Given the description of an element on the screen output the (x, y) to click on. 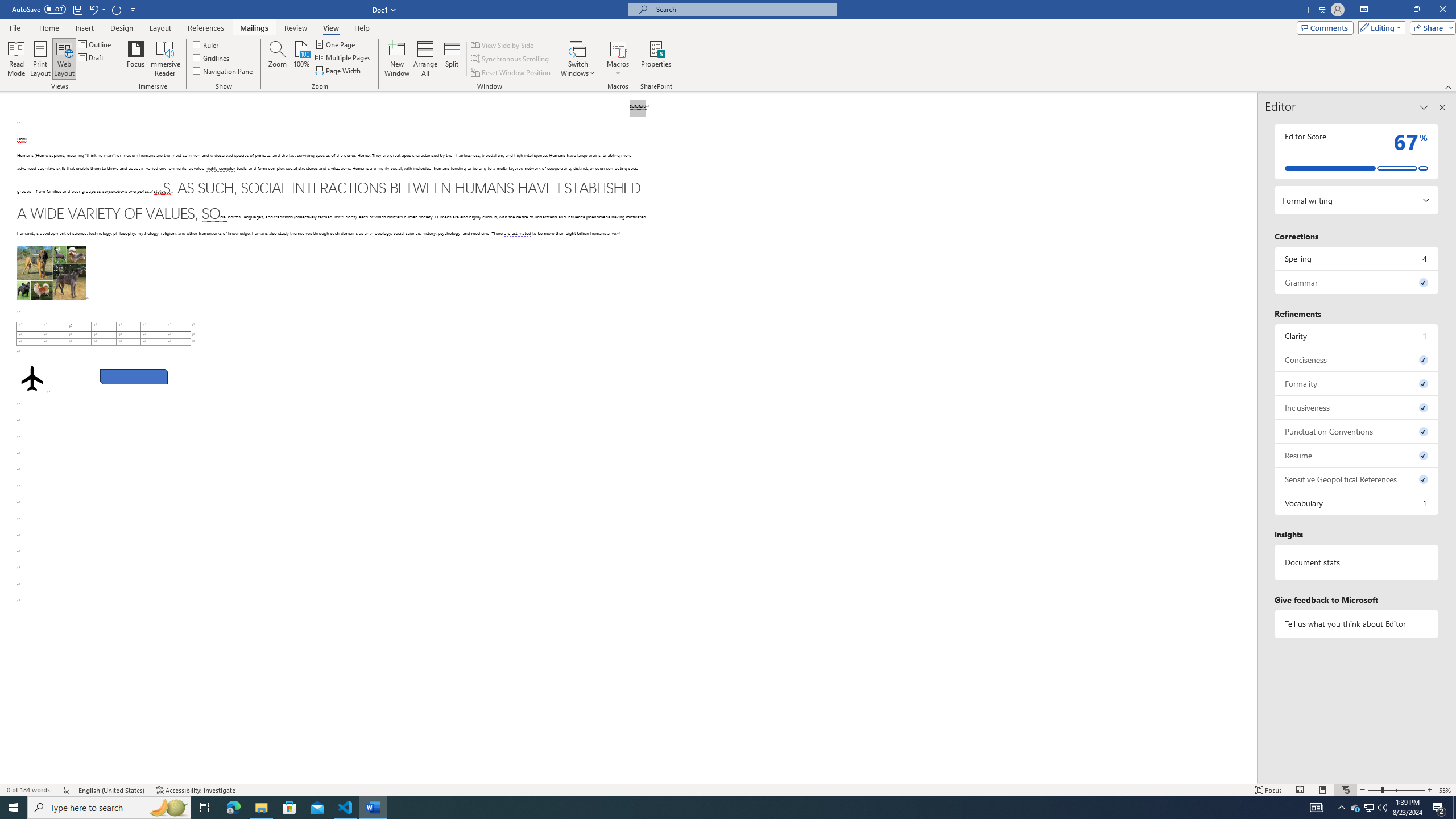
Resume, 0 issues. Press space or enter to review items. (1356, 454)
Document statistics (1356, 561)
Undo Paragraph Alignment (92, 9)
Ruler (206, 44)
Synchronous Scrolling (510, 58)
One Page (335, 44)
